Given the description of an element on the screen output the (x, y) to click on. 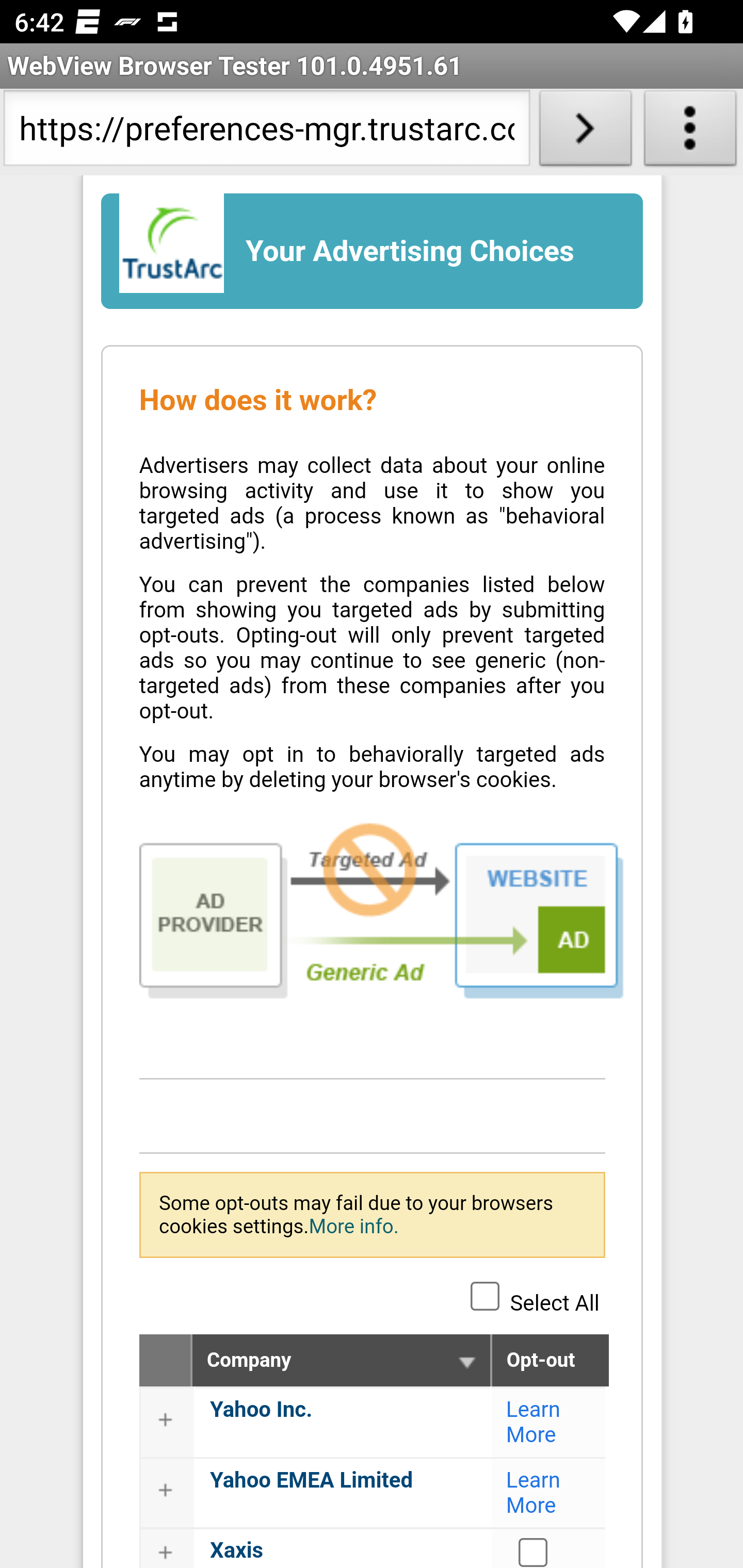
Load URL (585, 132)
About WebView (690, 132)
More info. (352, 1225)
 Select All  (484, 1294)
Company list, sort alphabetically descending (466, 1361)
Yahoo Inc. (261, 1408)
Learn More (533, 1421)
Yahoo EMEA Limited (311, 1480)
Learn More (533, 1492)
Xaxis (236, 1549)
Xaxis (533, 1551)
